Given the description of an element on the screen output the (x, y) to click on. 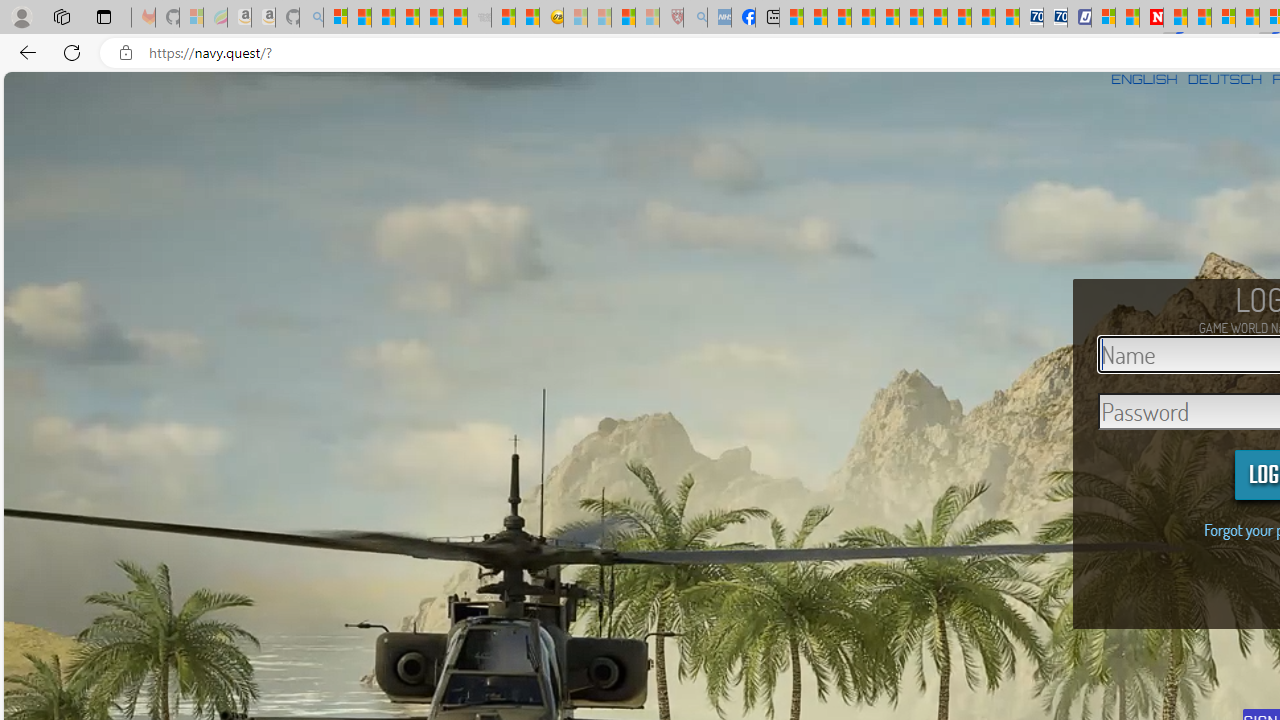
14 Common Myths Debunked By Scientific Facts (1198, 17)
